Given the description of an element on the screen output the (x, y) to click on. 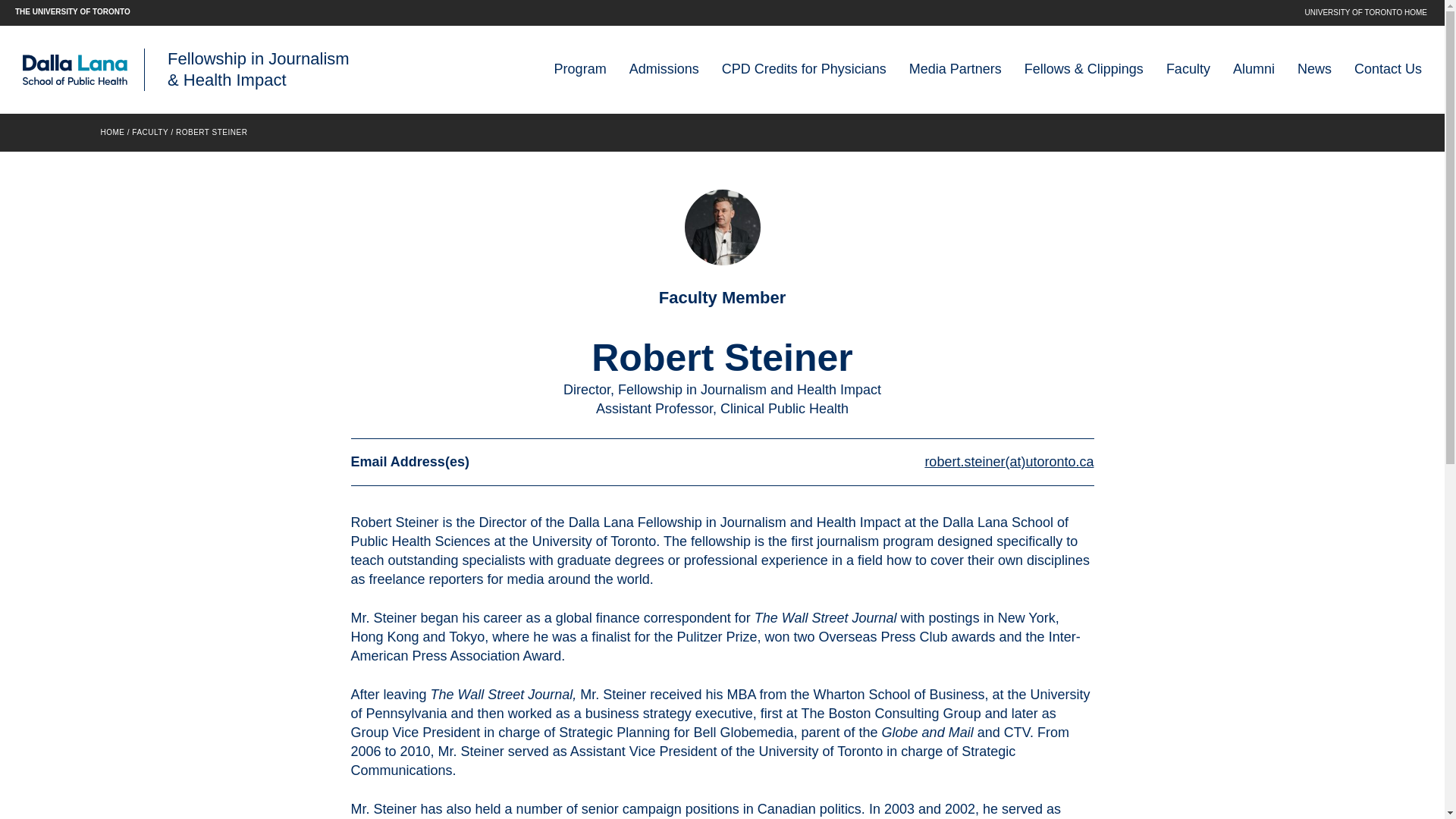
Faculty (1187, 68)
News (1314, 68)
Media Partners (954, 68)
Program (580, 68)
UNIVERSITY OF TORONTO HOME (1365, 12)
FACULTY (150, 131)
Alumni (1254, 68)
HOME (111, 131)
Admissions (663, 68)
Contact Us (1388, 68)
